Given the description of an element on the screen output the (x, y) to click on. 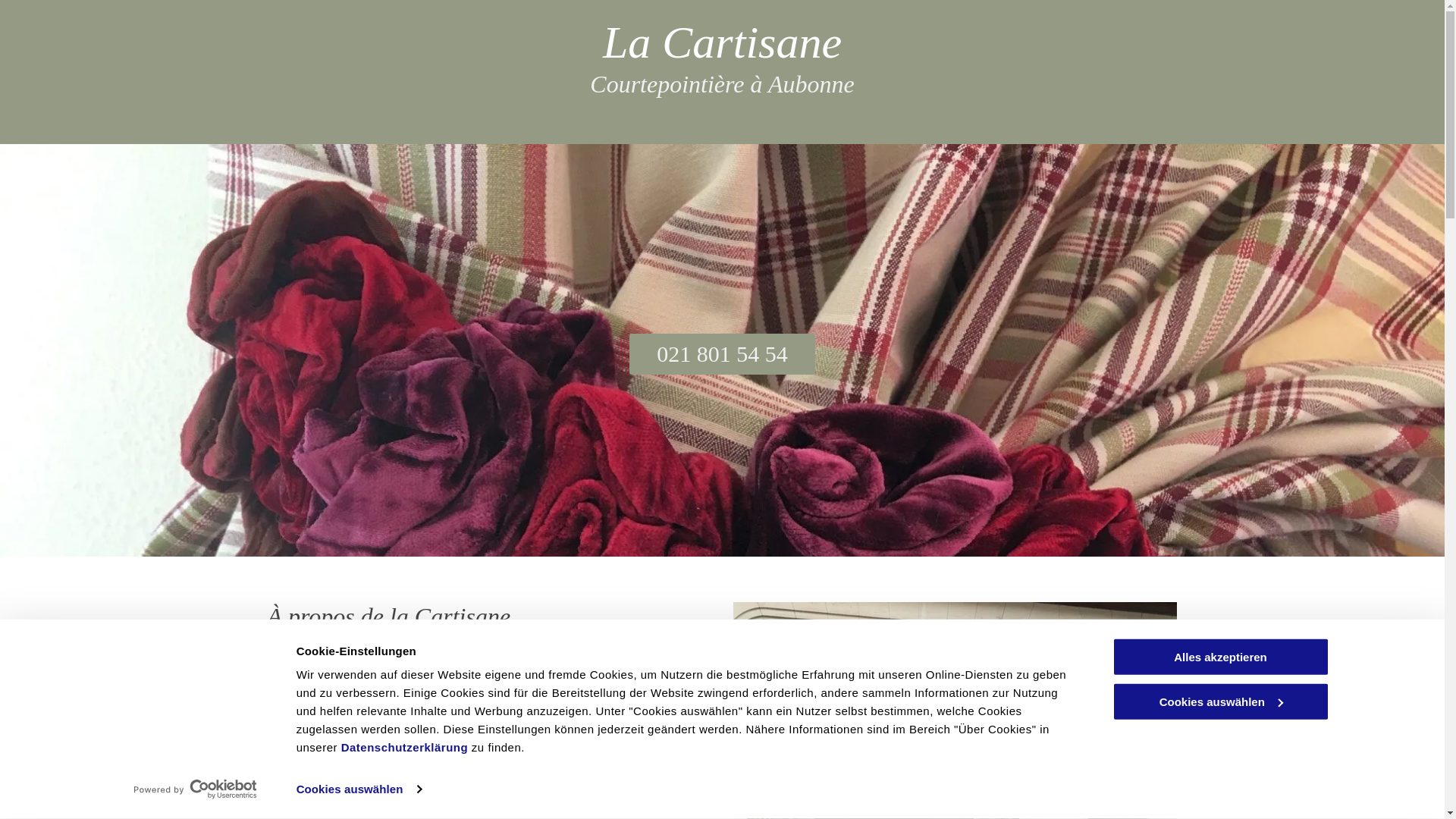
La Cartisane Element type: text (721, 42)
Alles akzeptieren Element type: text (1219, 656)
021 801 54 54 Element type: text (722, 353)
